Given the description of an element on the screen output the (x, y) to click on. 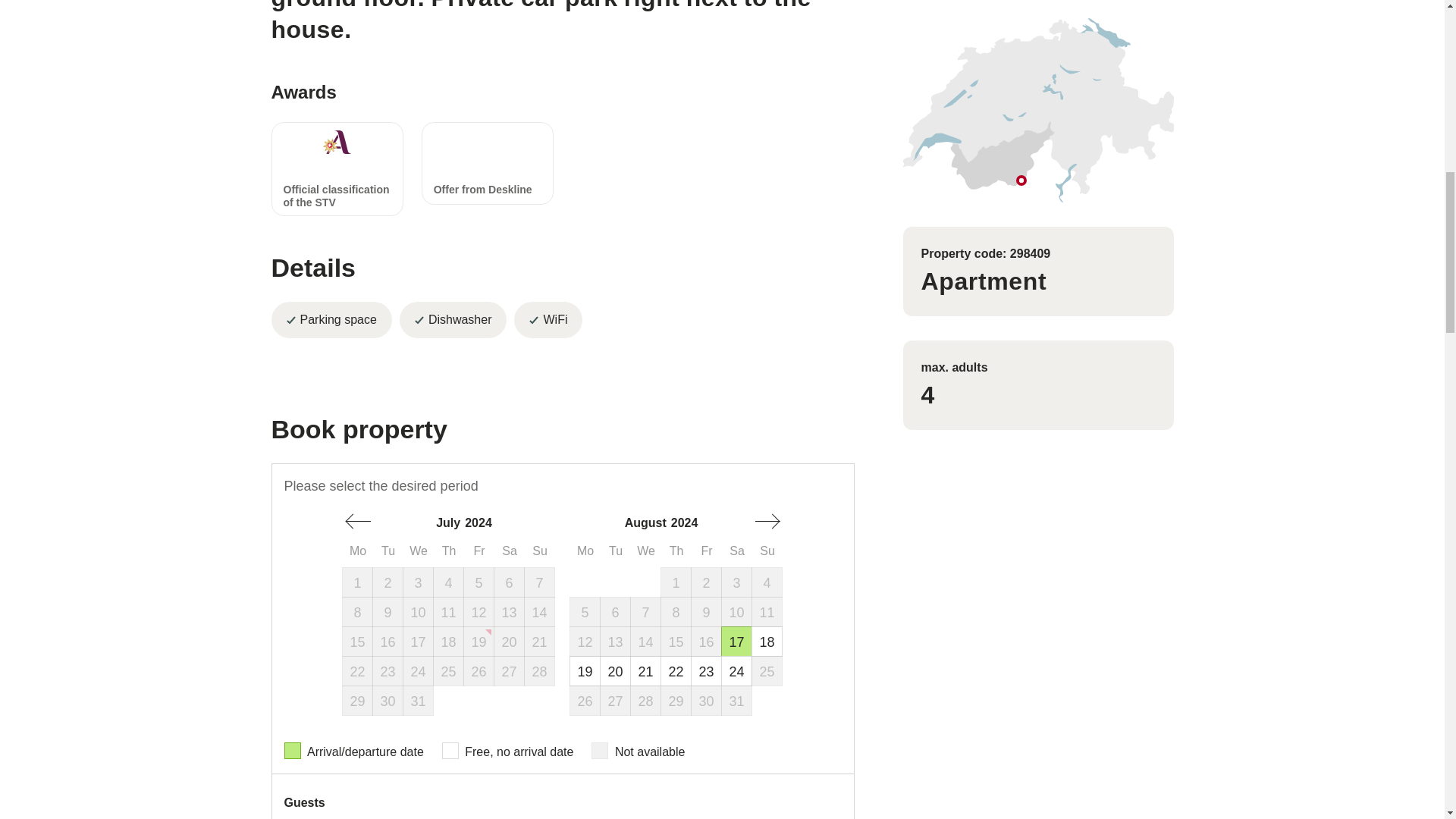
Friday (478, 550)
Tuesday (615, 550)
Monday (357, 550)
Thursday (449, 550)
Sunday (539, 550)
Saturday (509, 550)
Wednesday (418, 550)
Monday (585, 550)
Tuesday (387, 550)
